Given the description of an element on the screen output the (x, y) to click on. 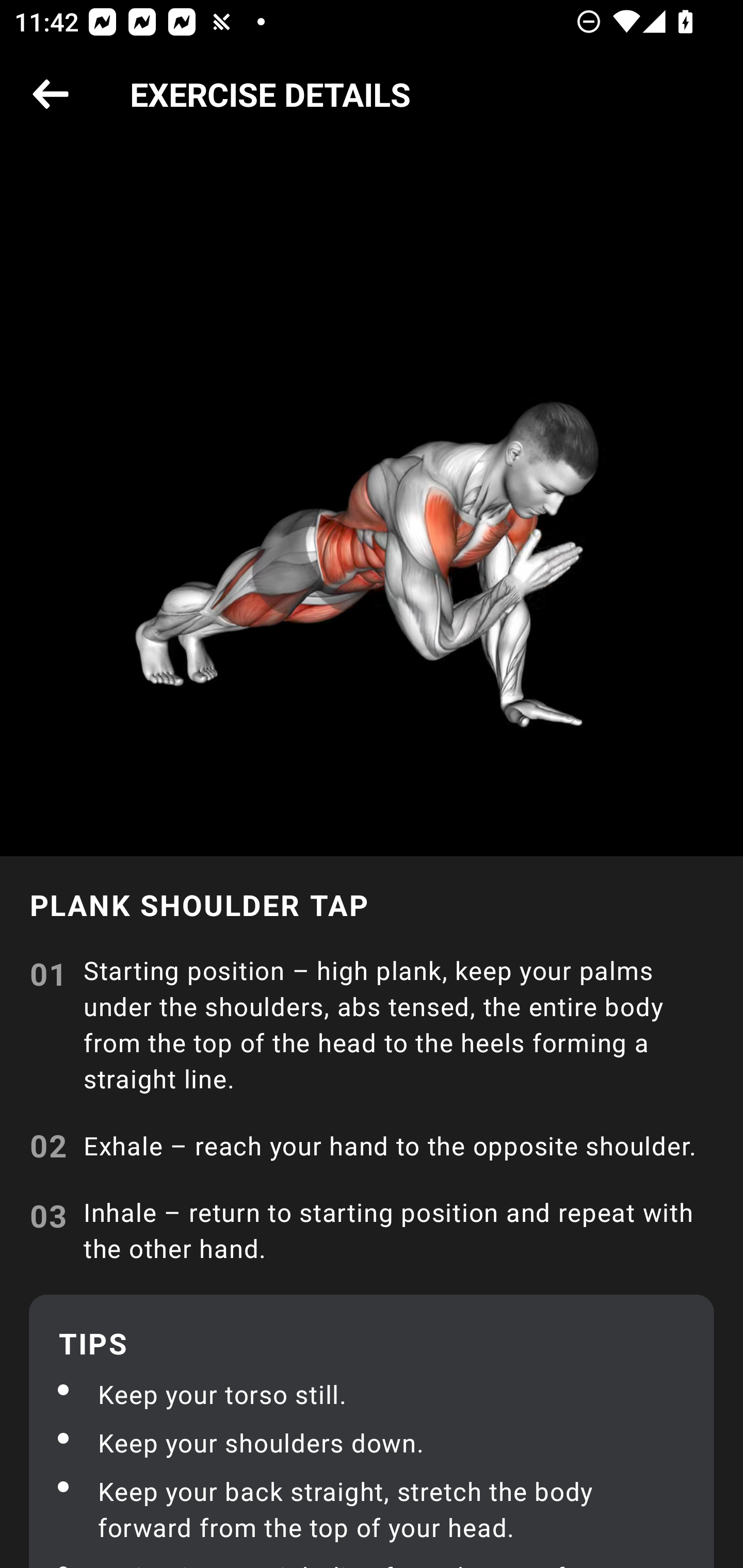
Back Icon (50, 94)
